Given the description of an element on the screen output the (x, y) to click on. 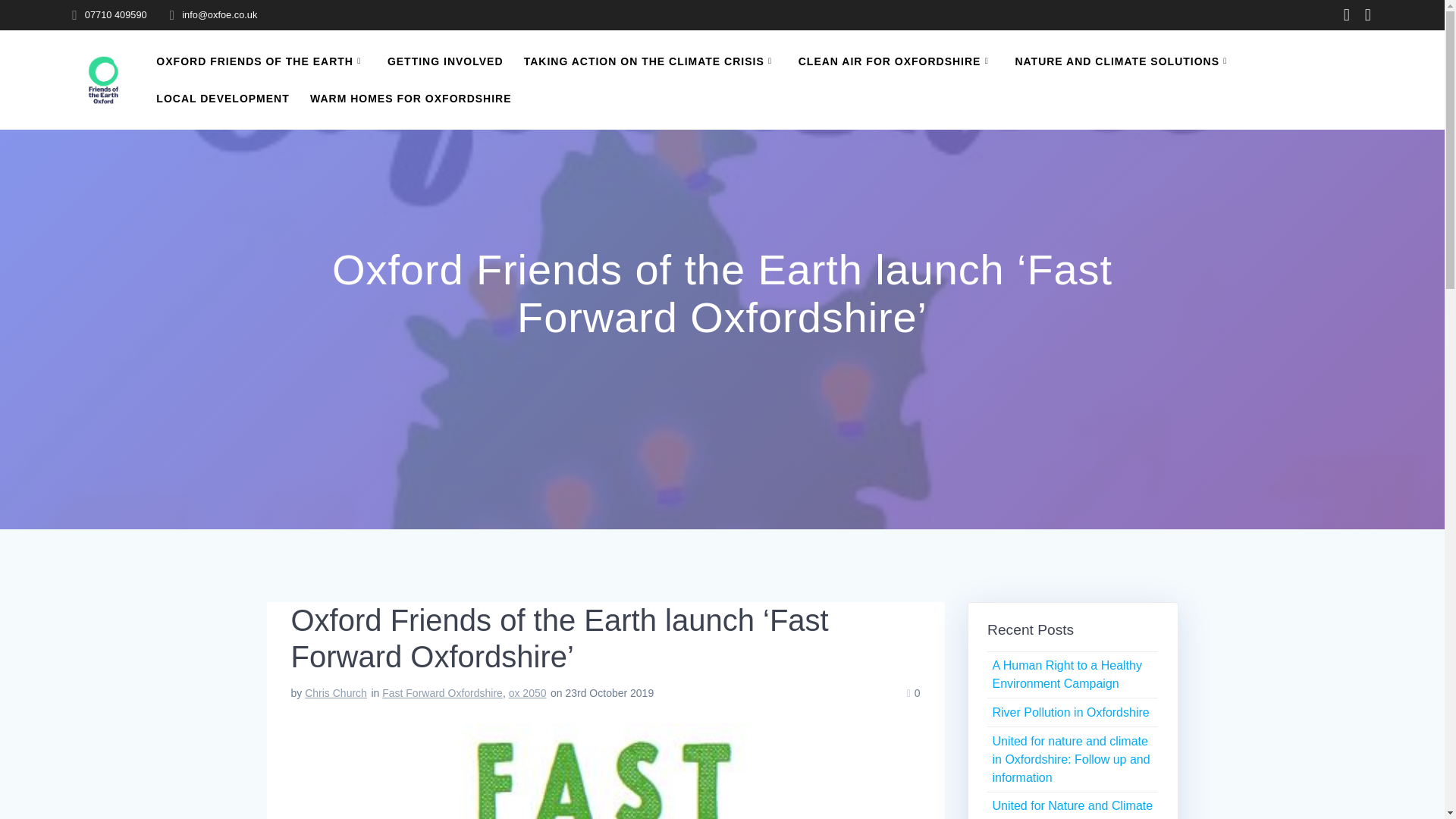
Chris Church (335, 693)
TAKING ACTION ON THE CLIMATE CRISIS (650, 61)
GETTING INVOLVED (445, 61)
Posts by Chris Church (335, 693)
OXFORD FRIENDS OF THE EARTH (260, 61)
WARM HOMES FOR OXFORDSHIRE (411, 98)
NATURE AND CLIMATE SOLUTIONS (1122, 61)
CLEAN AIR FOR OXFORDSHIRE (895, 61)
LOCAL DEVELOPMENT (221, 98)
Fast Forward Oxfordshire (441, 693)
